Given the description of an element on the screen output the (x, y) to click on. 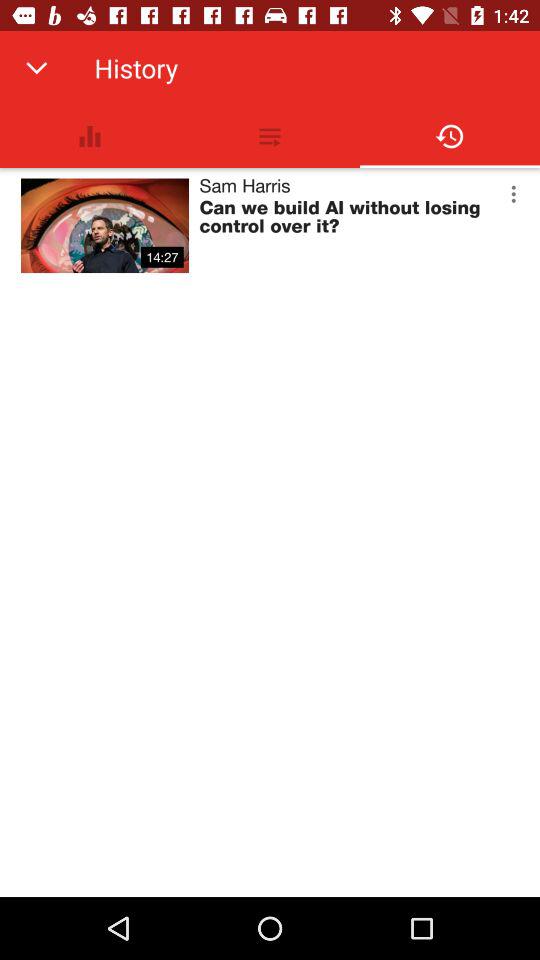
select app next to history app (36, 68)
